Given the description of an element on the screen output the (x, y) to click on. 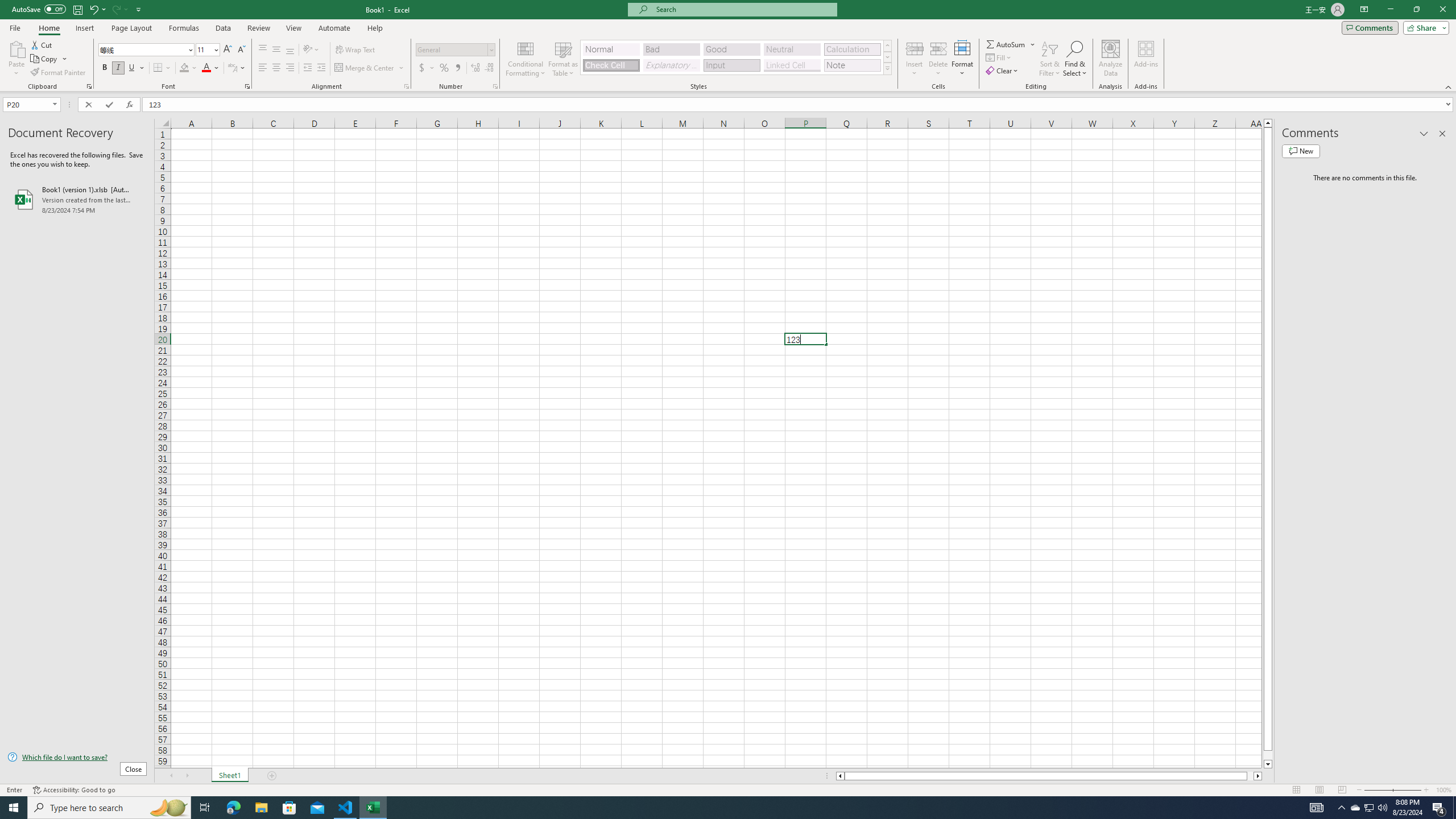
Format Painter (58, 72)
Zoom In (1426, 790)
Bottom Border (157, 67)
Normal (611, 49)
Wrap Text (355, 49)
Sheet1 (229, 775)
Font Size (207, 49)
Share (1423, 27)
Format Cell Alignment (405, 85)
Format Cell Number (494, 85)
Merge & Center (365, 67)
Check Cell (611, 65)
Help (374, 28)
